Given the description of an element on the screen output the (x, y) to click on. 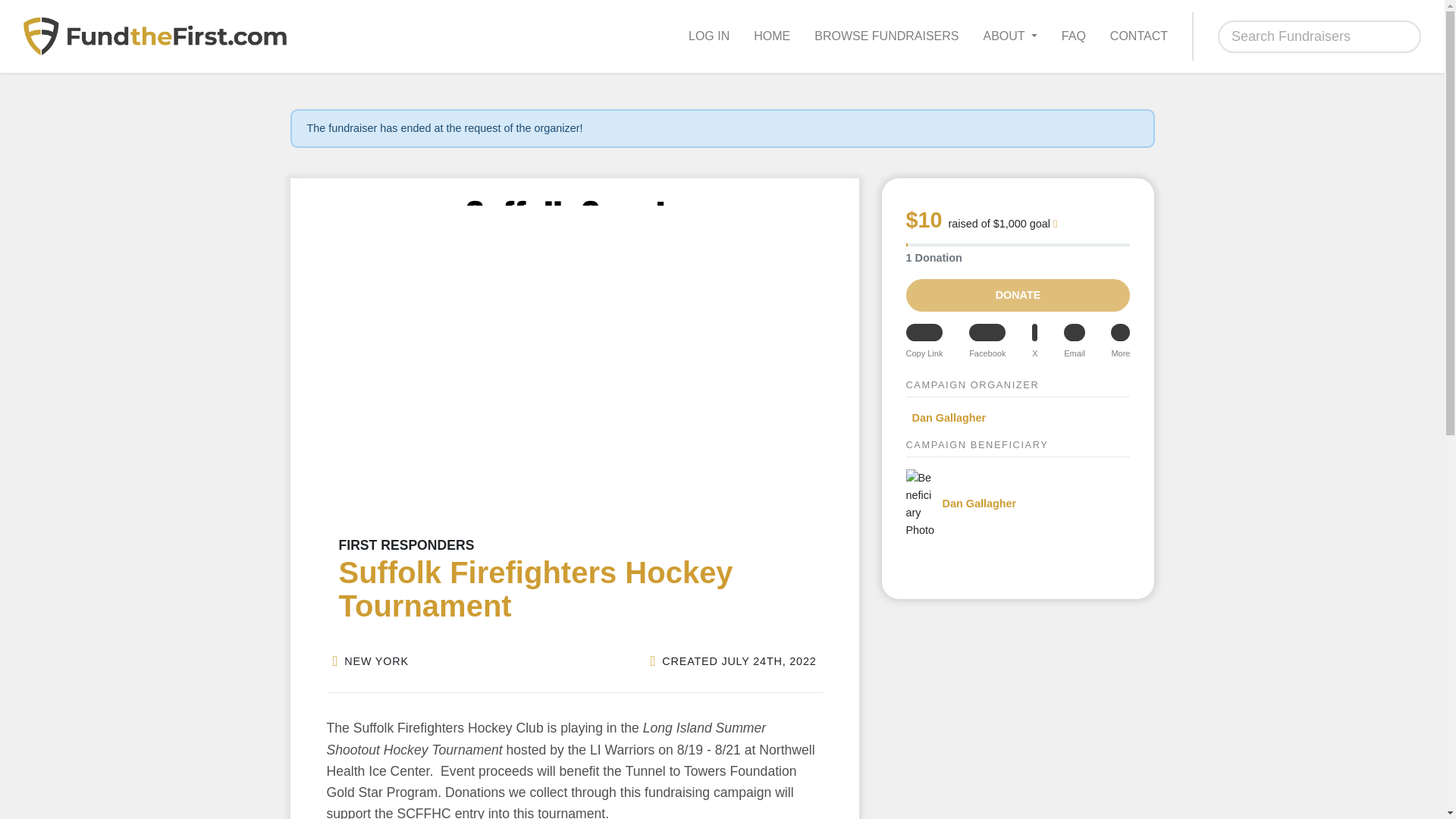
DONATE (1017, 295)
BROWSE FUNDRAISERS (886, 36)
LOG IN (709, 36)
ABOUT (1009, 36)
Facebook (987, 342)
CONTACT (1138, 36)
FAQ (1073, 36)
HOME (771, 36)
Copied! (923, 342)
